Given the description of an element on the screen output the (x, y) to click on. 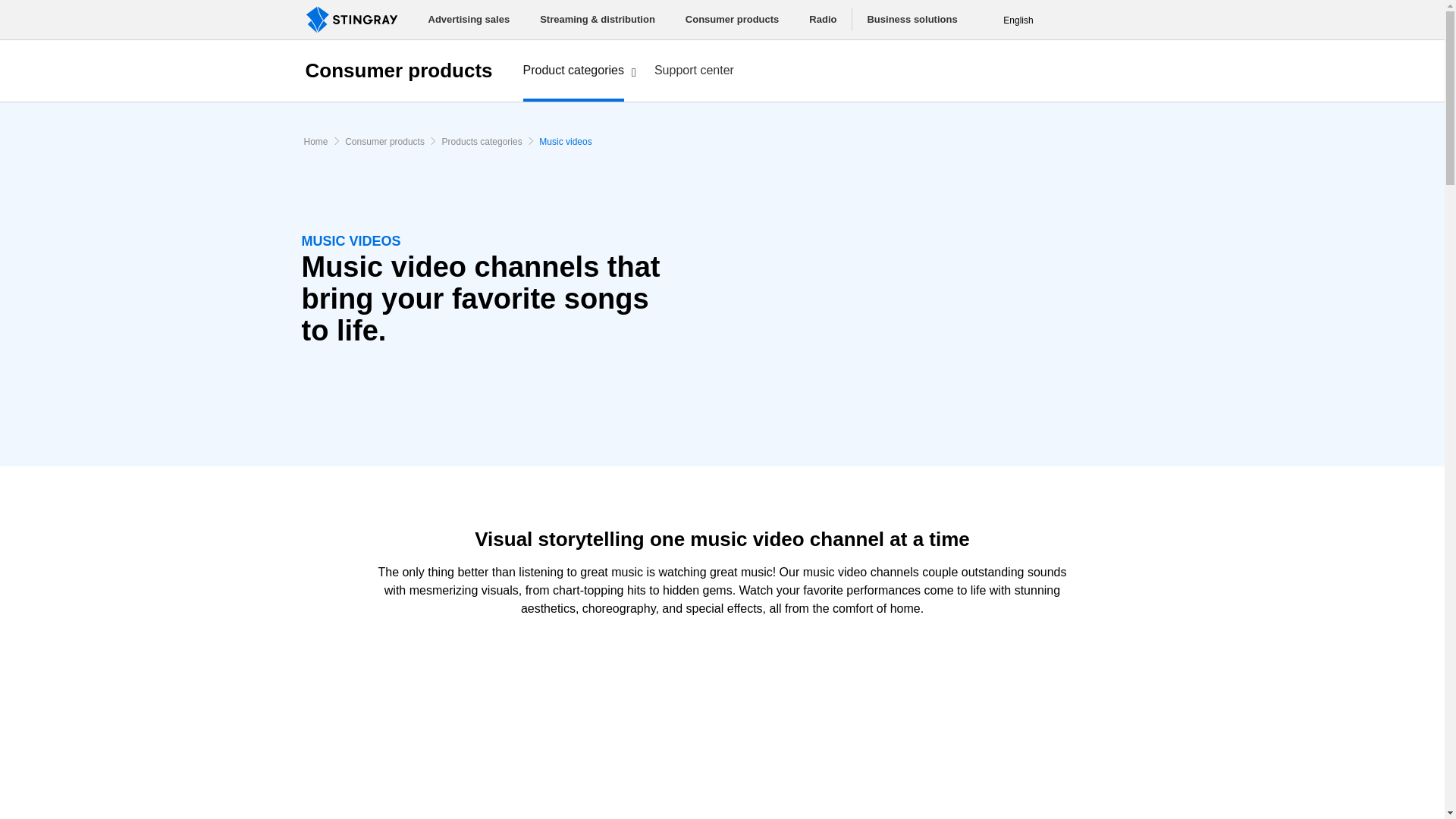
Consumer products (384, 141)
English (1018, 19)
Home (316, 141)
Products categories (481, 141)
Business solutions (911, 19)
Consumer products (398, 69)
Support center (694, 70)
Radio (822, 19)
Product categories (573, 72)
Advertising sales (468, 19)
